Given the description of an element on the screen output the (x, y) to click on. 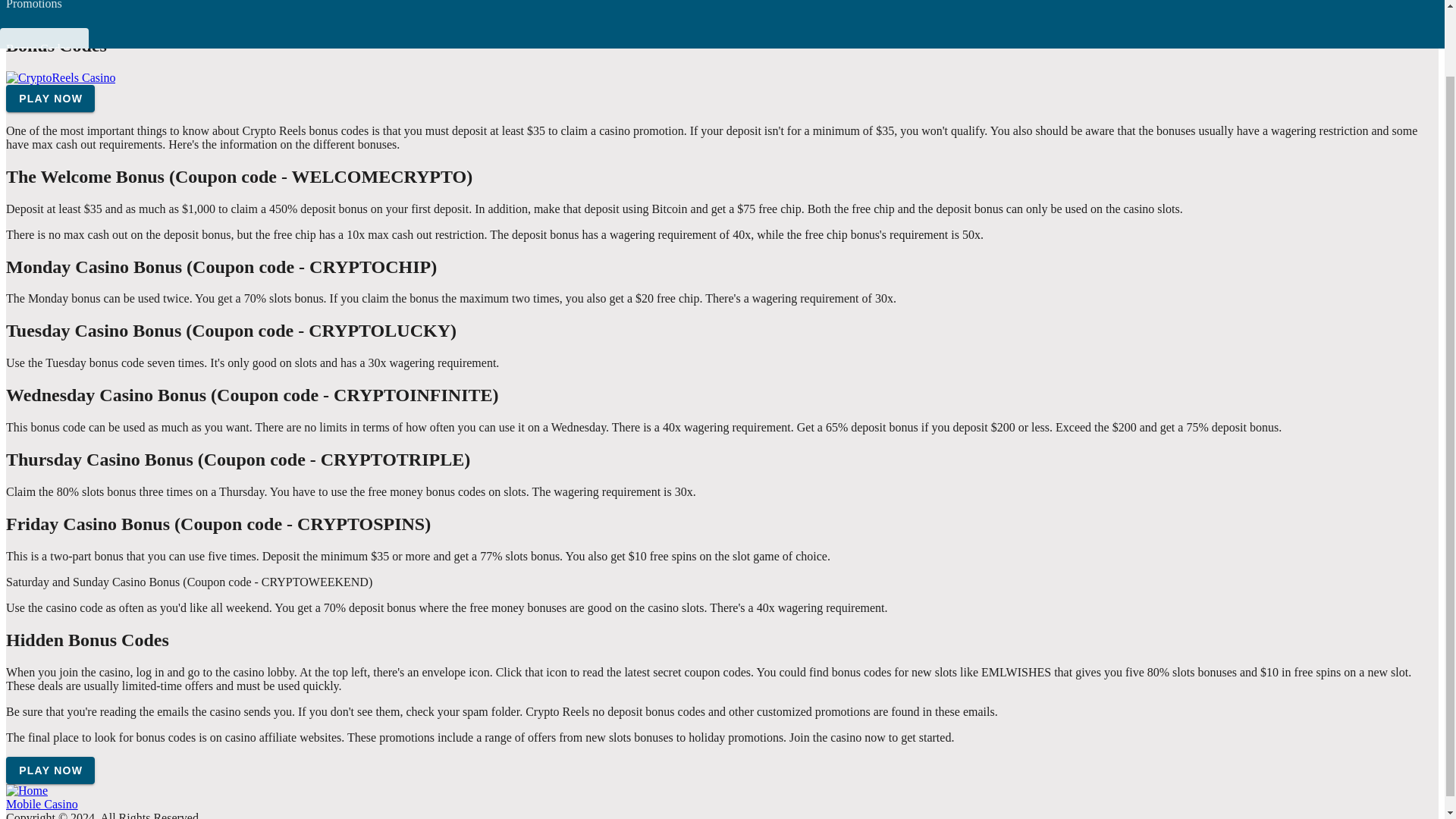
Mobile Casino (41, 802)
PLAY NOW (49, 768)
PLAY NOW (49, 98)
